Given the description of an element on the screen output the (x, y) to click on. 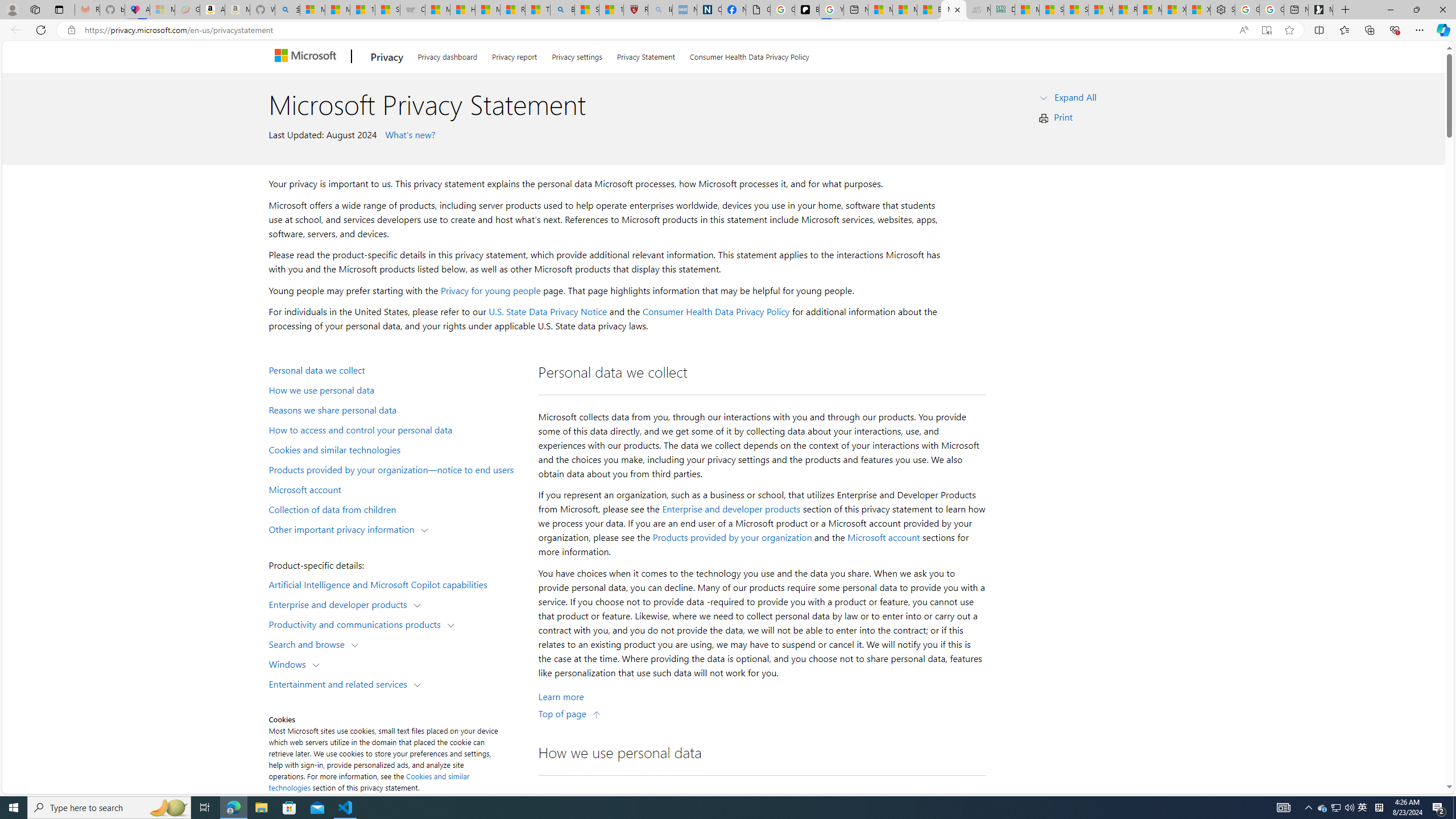
Privacy settings (576, 54)
Top of page (569, 713)
Collection of data from children (395, 508)
Robert H. Shmerling, MD - Harvard Health (635, 9)
Privacy dashboard (447, 54)
Search and browse (308, 643)
Artificial Intelligence and Microsoft Copilot capabilities (395, 583)
